Given the description of an element on the screen output the (x, y) to click on. 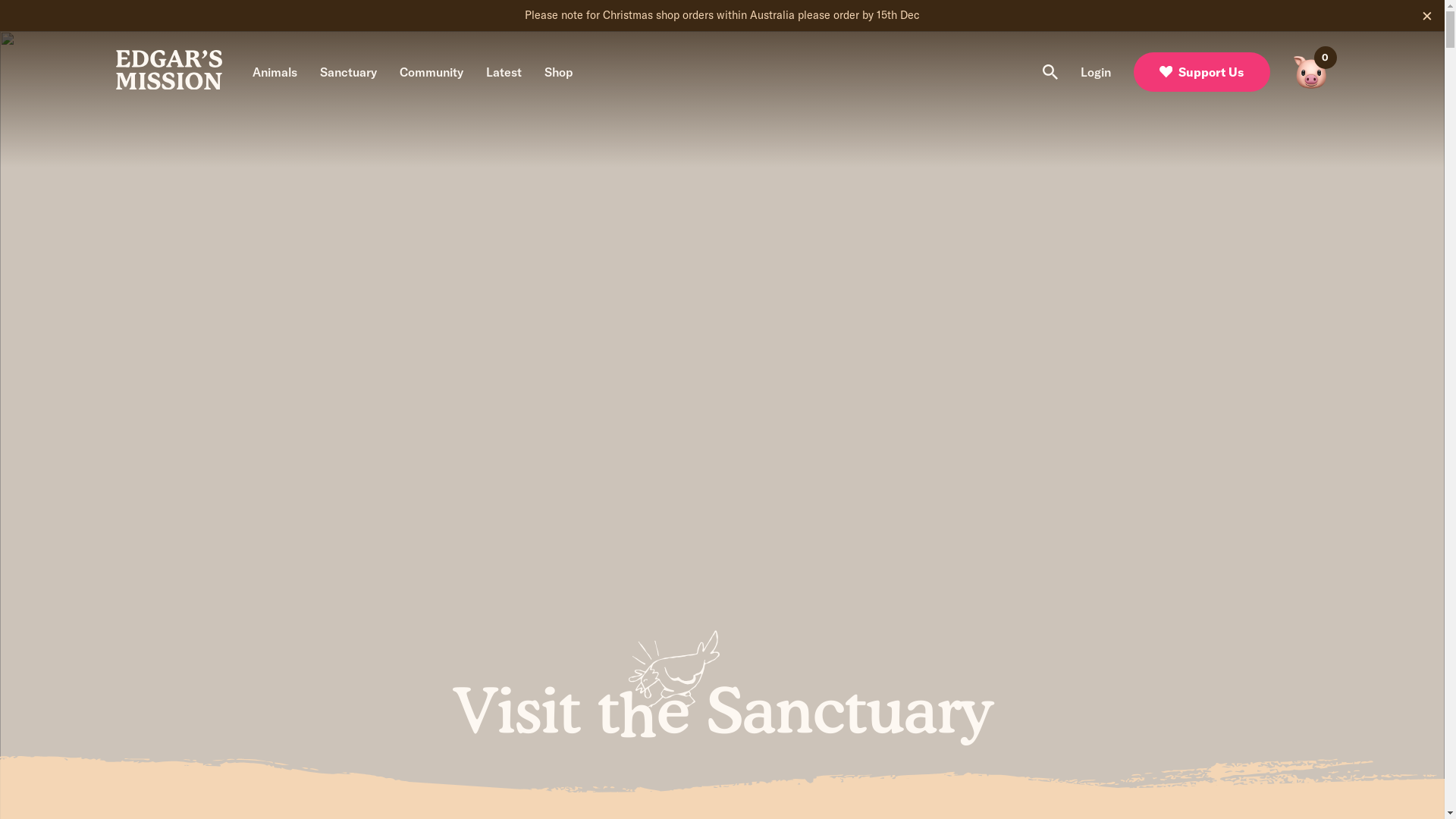
Sanctuary Element type: text (348, 71)
Login Element type: text (1094, 71)
Animals Element type: text (273, 71)
Community Element type: text (430, 71)
0 Element type: text (1310, 71)
Shop Element type: text (558, 71)
Support Us Element type: text (1200, 71)
Latest Element type: text (502, 71)
